Given the description of an element on the screen output the (x, y) to click on. 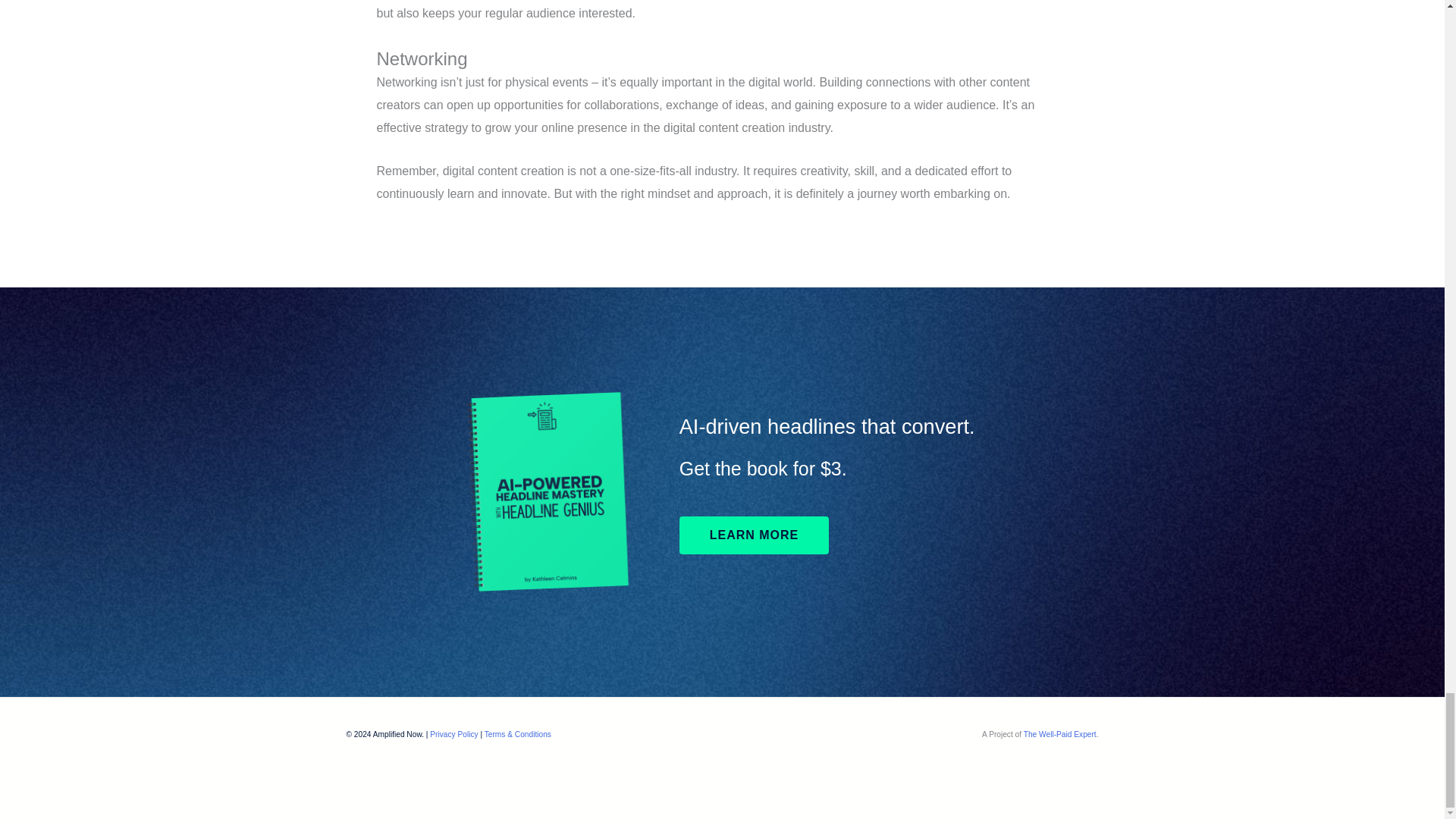
The Well-Paid Expert (1059, 734)
Privacy Policy (453, 734)
Click Here (754, 535)
LEARN MORE (754, 535)
